Given the description of an element on the screen output the (x, y) to click on. 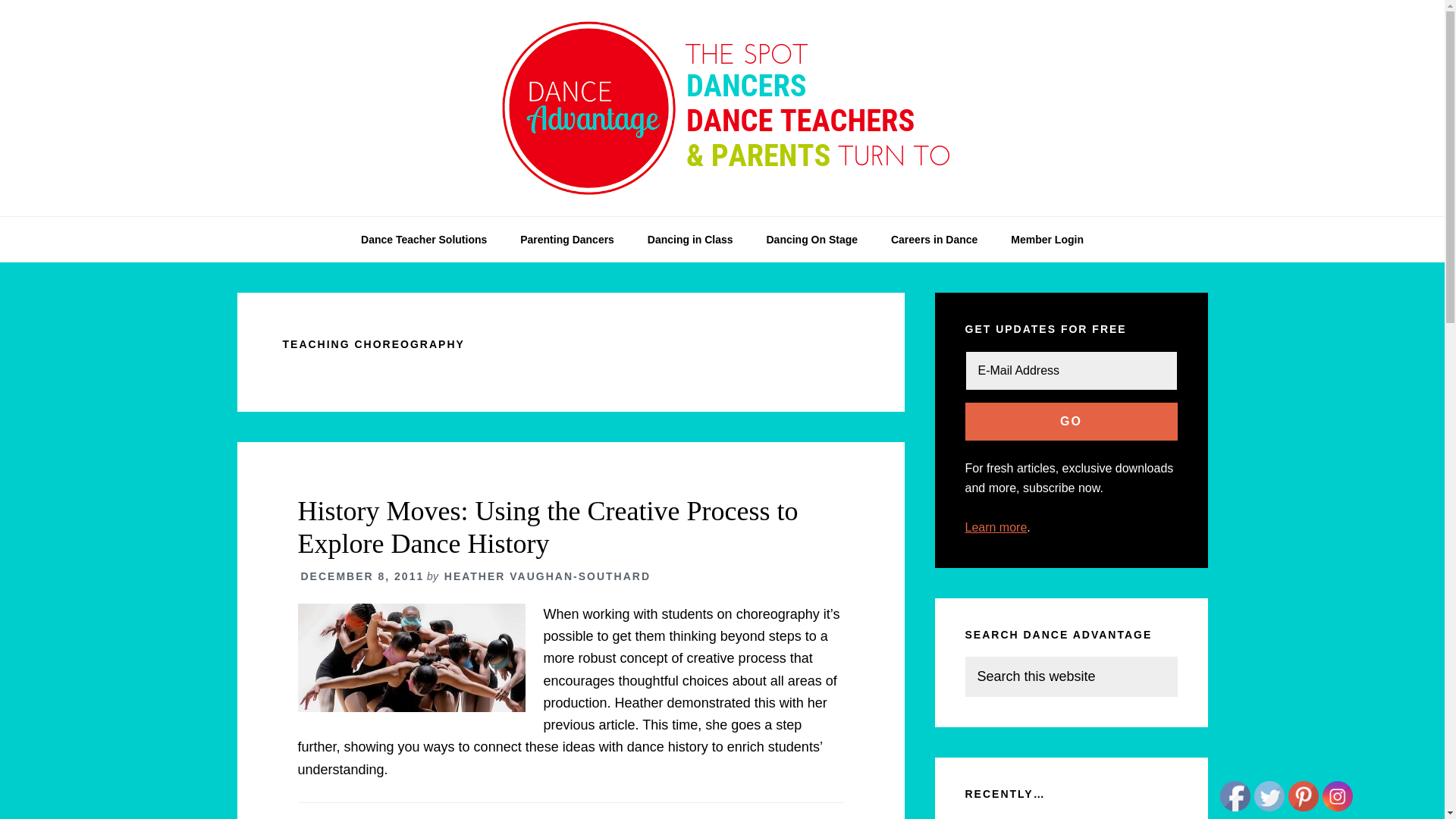
Dance Teacher Solutions (424, 239)
Adivice and resources for dance parents (566, 239)
Insights on professional dance and dance as a career (934, 239)
Dancing in Class (689, 239)
Dancing On Stage (811, 239)
Go (1069, 421)
HEATHER VAUGHAN-SOUTHARD (547, 576)
Subscriber and Customer Login (1047, 239)
Dance performance topics and tips (811, 239)
Dance Advantage (722, 108)
Solutions for dance teachers (424, 239)
